Given the description of an element on the screen output the (x, y) to click on. 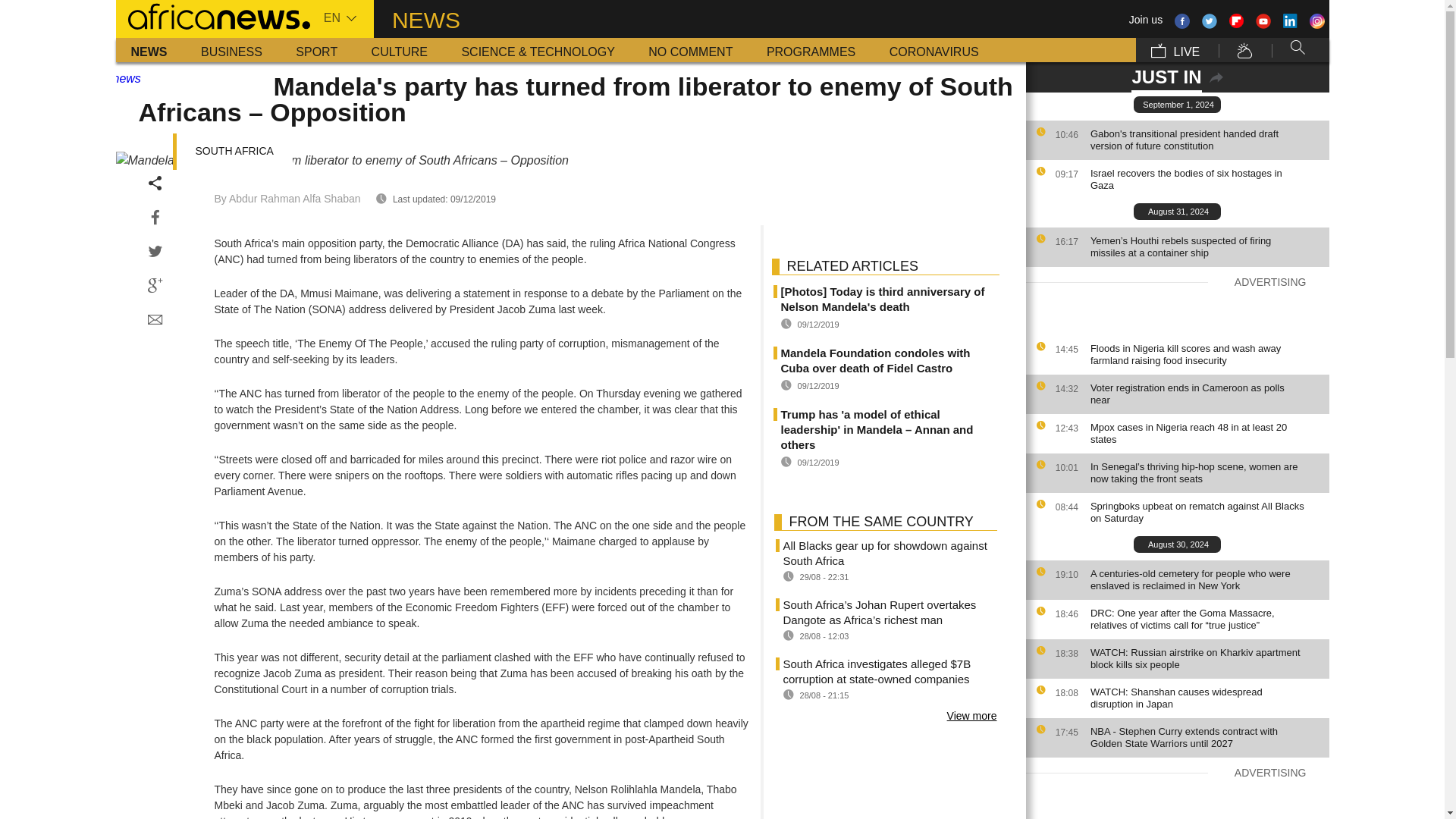
PROGRAMMES (810, 49)
Voter registration ends in Cameroon as polls near (1206, 394)
BUSINESS (232, 49)
CULTURE (399, 49)
Africanews (211, 15)
Israel recovers the bodies of six hostages in Gaza (1206, 179)
CORONAVIRUS (934, 49)
Business (232, 49)
